Given the description of an element on the screen output the (x, y) to click on. 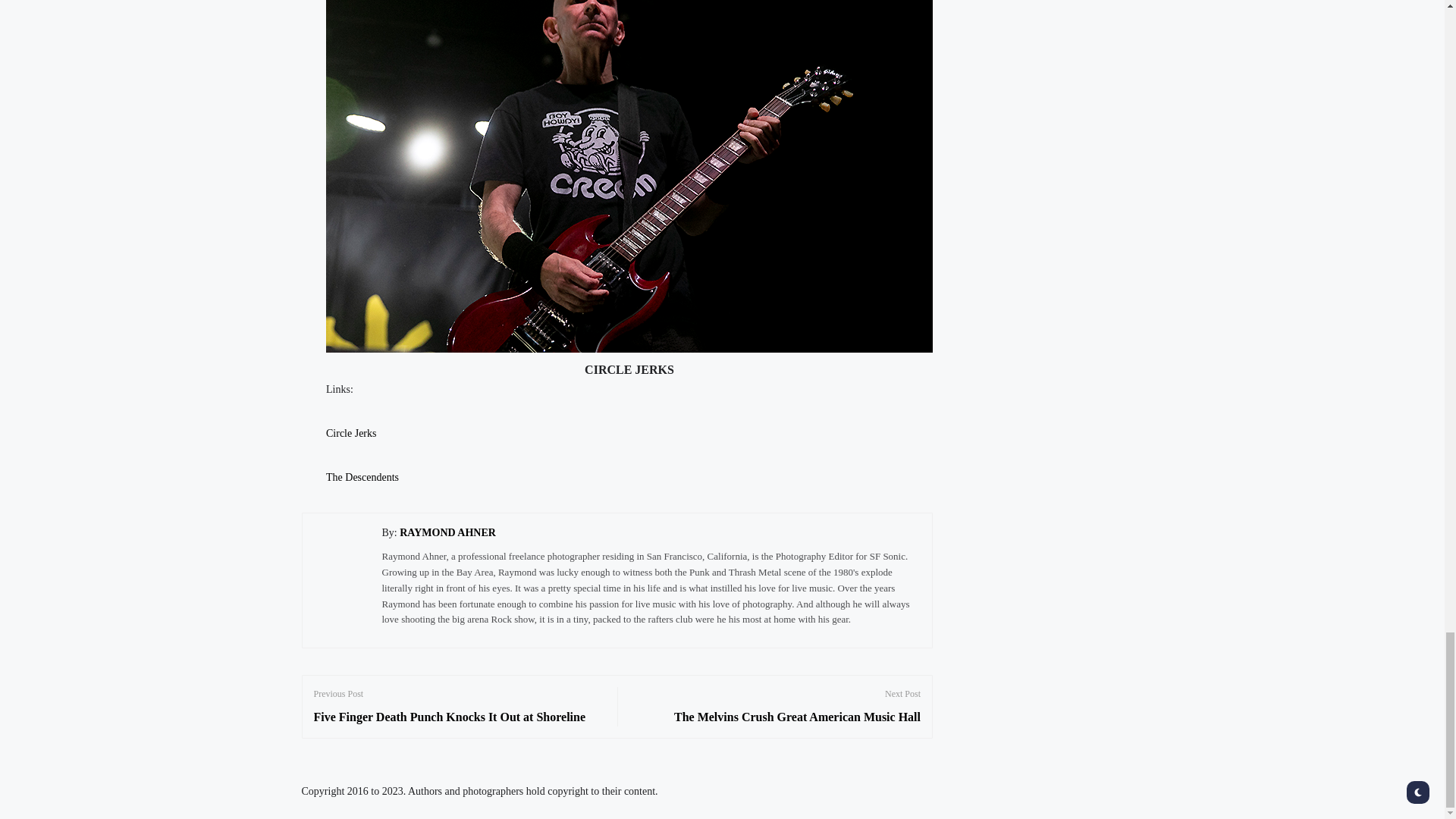
The Descendents (362, 477)
Circle Jerks (350, 432)
RAYMOND AHNER (774, 706)
